Given the description of an element on the screen output the (x, y) to click on. 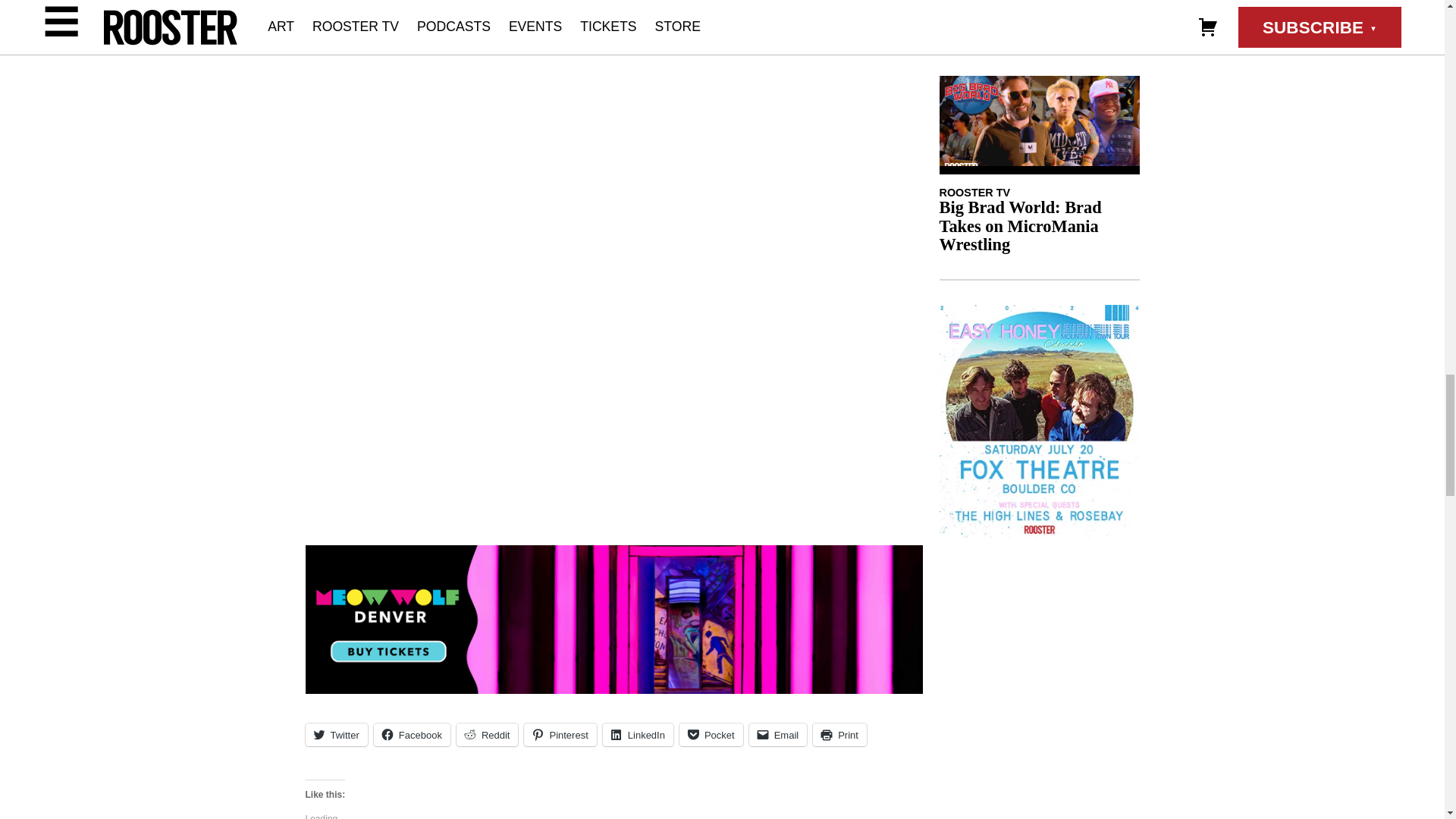
Click to print (839, 734)
Click to share on Pocket (710, 734)
Click to share on Twitter (335, 734)
Click to share on Reddit (487, 734)
Click to share on Facebook (411, 734)
Click to share on Pinterest (559, 734)
Click to share on LinkedIn (637, 734)
Click to email a link to a friend (778, 734)
